Given the description of an element on the screen output the (x, y) to click on. 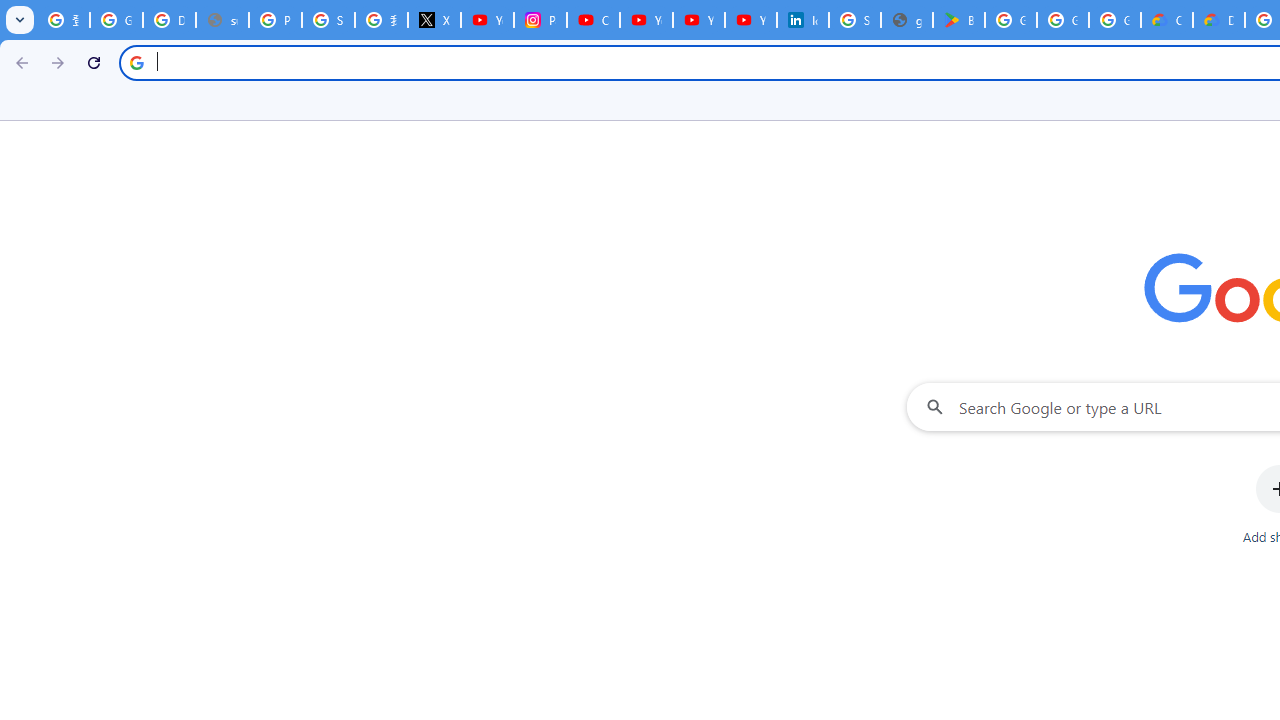
YouTube Culture & Trends - YouTube Top 10, 2021 (698, 20)
Bluey: Let's Play! - Apps on Google Play (959, 20)
Sign in - Google Accounts (328, 20)
Customer Care | Google Cloud (1166, 20)
Sign in - Google Accounts (854, 20)
support.google.com - Network error (222, 20)
Google Workspace - Specific Terms (1114, 20)
YouTube Culture & Trends - YouTube Top 10, 2021 (750, 20)
